Given the description of an element on the screen output the (x, y) to click on. 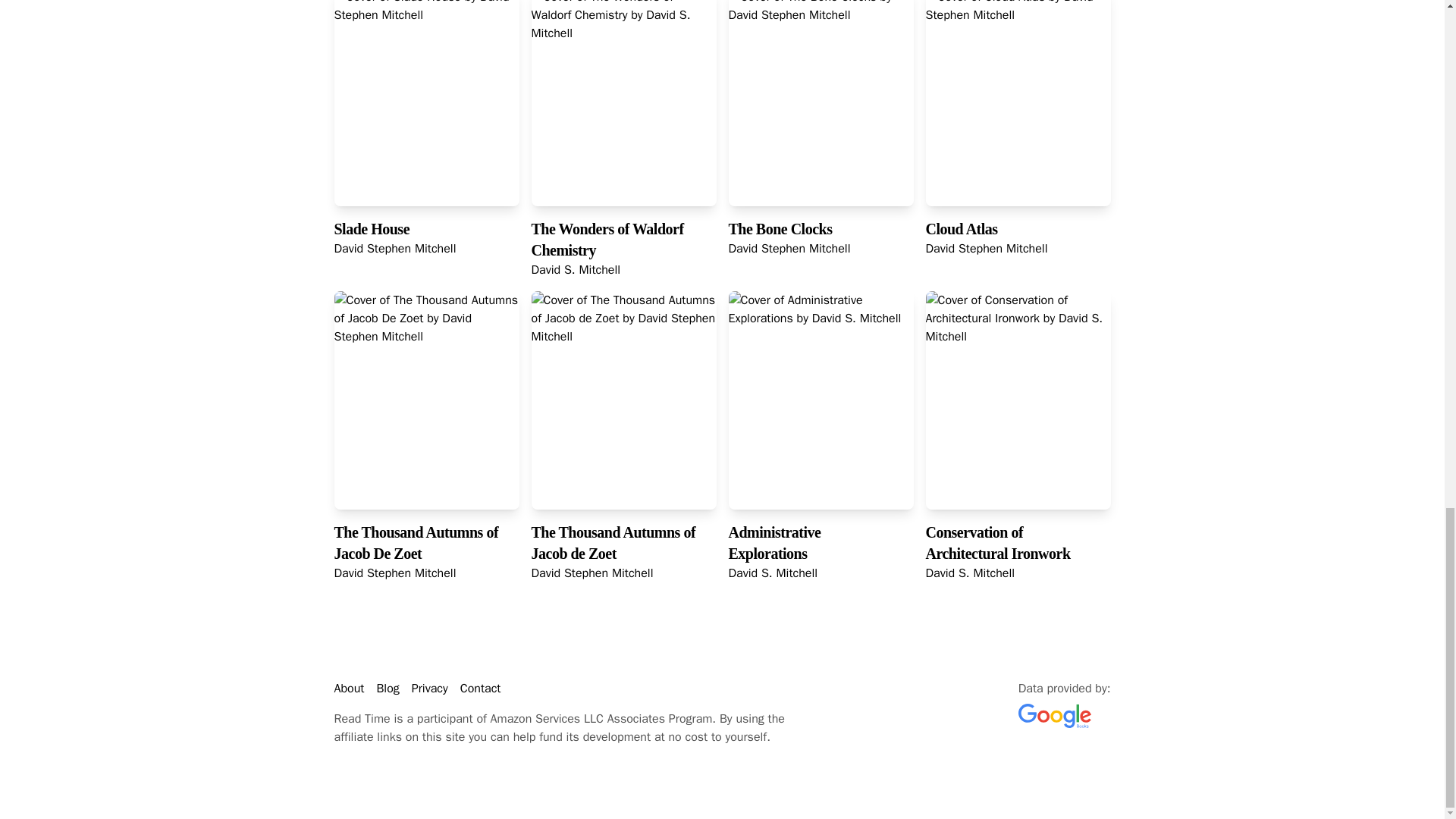
The Thousand Autumns of Jacob De Zoet (415, 542)
David Stephen Mitchell (985, 248)
David S. Mitchell (772, 572)
David S. Mitchell (969, 572)
Privacy (430, 688)
The Wonders of Waldorf Chemistry (606, 239)
Conservation of Architectural Ironwork (997, 542)
David Stephen Mitchell (591, 572)
David Stephen Mitchell (789, 248)
David S. Mitchell (575, 269)
Blog (386, 688)
Administrative Explorations (774, 542)
The Thousand Autumns of Jacob de Zoet (613, 542)
Contact (480, 688)
Slade House (371, 228)
